Given the description of an element on the screen output the (x, y) to click on. 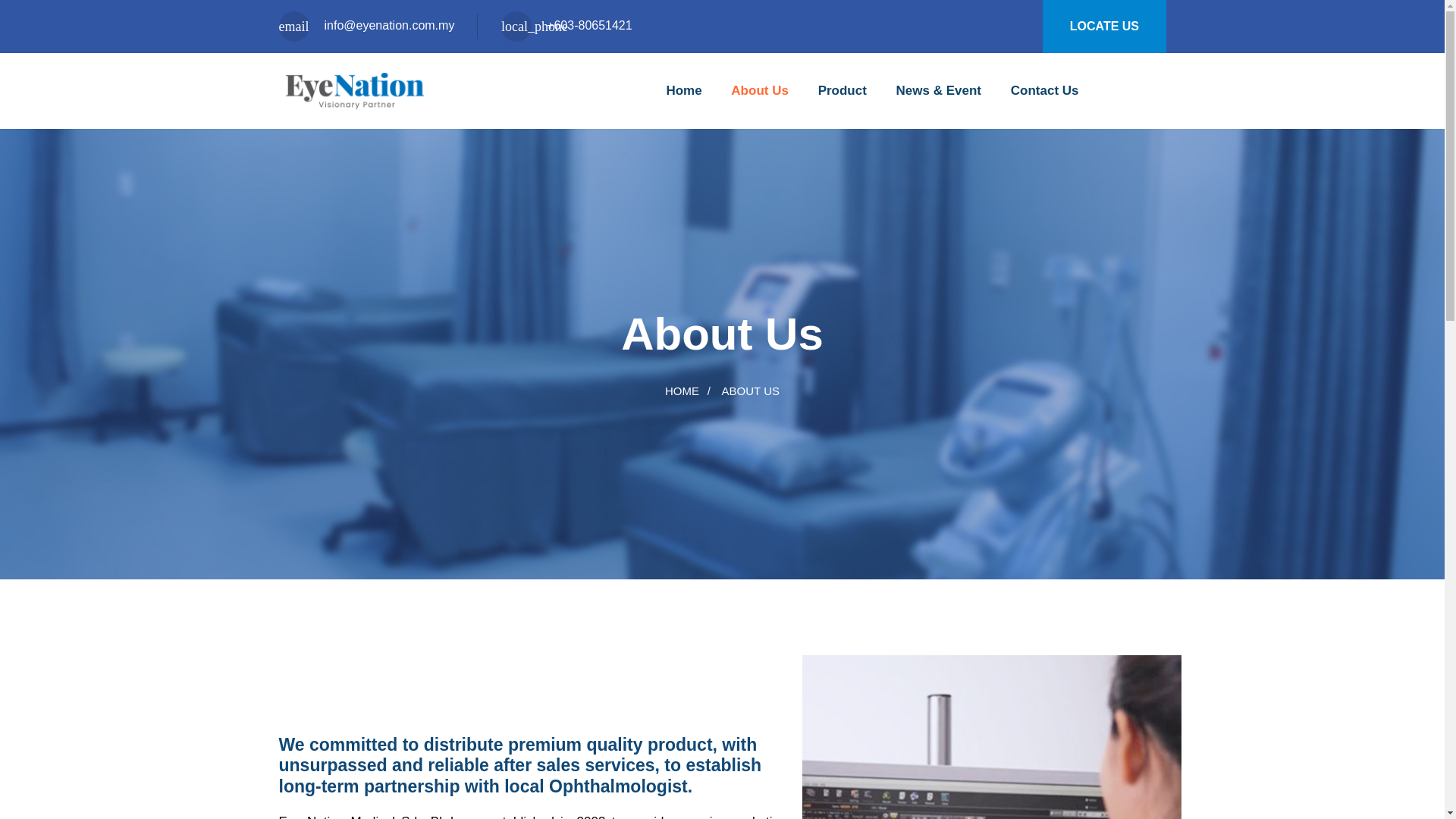
About Us (759, 90)
Home (683, 90)
Product (842, 90)
LOCATE US (1104, 26)
HOME (681, 391)
Contact Us (1044, 90)
